Given the description of an element on the screen output the (x, y) to click on. 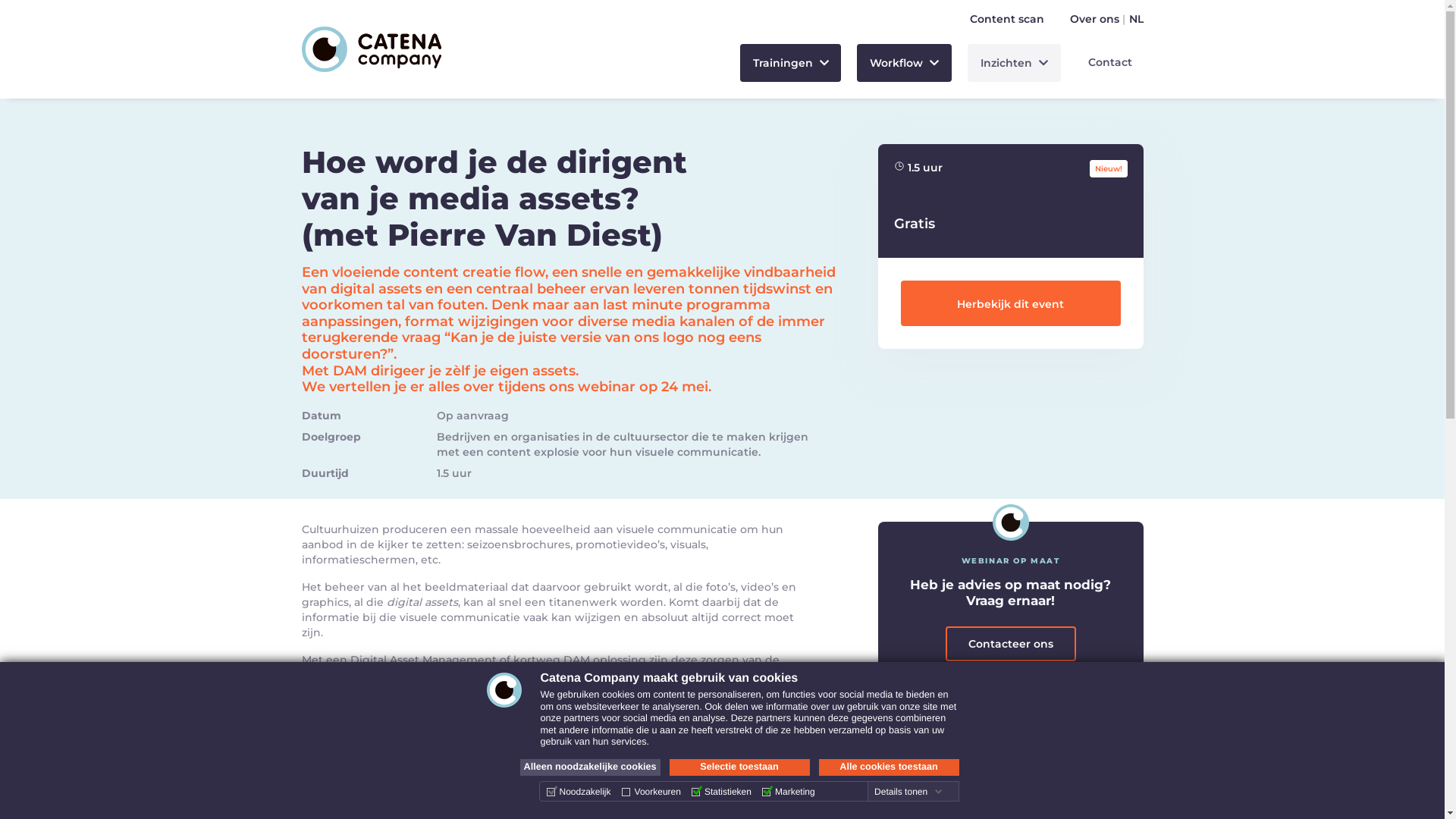
Selectie toestaan Element type: text (738, 767)
Contacteer ons Element type: text (1009, 643)
Herbekijk dit event Element type: text (1010, 303)
Over ons Element type: text (1093, 18)
NL Element type: text (1135, 18)
Contact Element type: text (1109, 62)
Trainingen Element type: text (790, 62)
Inzichten Element type: text (1013, 62)
Alle cookies toestaan Element type: text (889, 767)
Details tonen Element type: text (908, 791)
Alleen noodzakelijke cookies Element type: text (590, 767)
Workflow Element type: text (903, 62)
Content scan Element type: text (1006, 18)
